Given the description of an element on the screen output the (x, y) to click on. 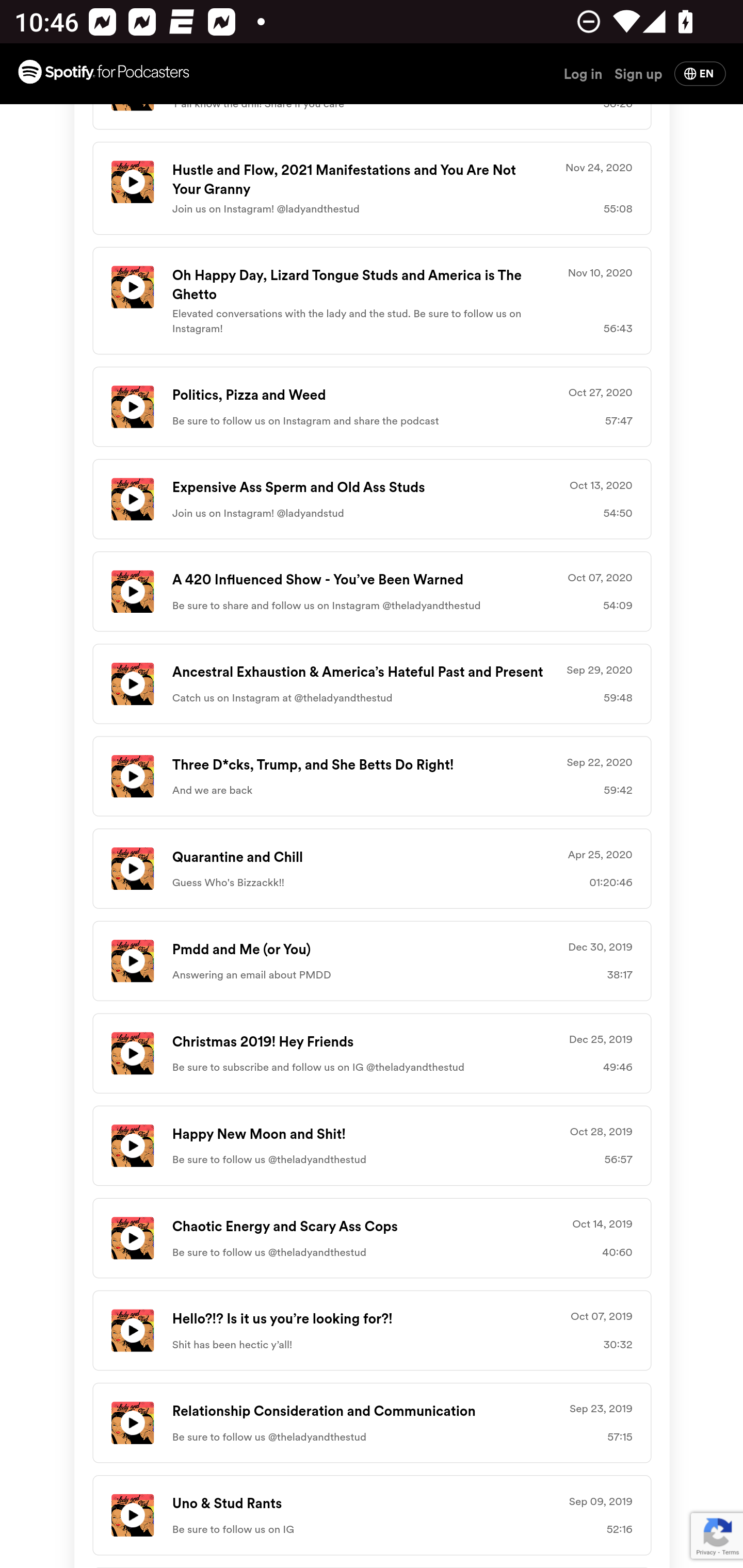
Spotify for Podcasters (103, 74)
Change language (699, 73)
Log in (582, 73)
Sign up (637, 73)
Play icon (131, 181)
Play icon (131, 286)
Play icon (131, 406)
Play icon (131, 499)
Play icon (131, 590)
Play icon (131, 683)
Play icon (131, 775)
Play icon (131, 868)
Play icon (131, 960)
Play icon (131, 1053)
Play icon (131, 1145)
Play icon (131, 1238)
Play icon (131, 1330)
Play icon (131, 1423)
Play icon (131, 1515)
